Given the description of an element on the screen output the (x, y) to click on. 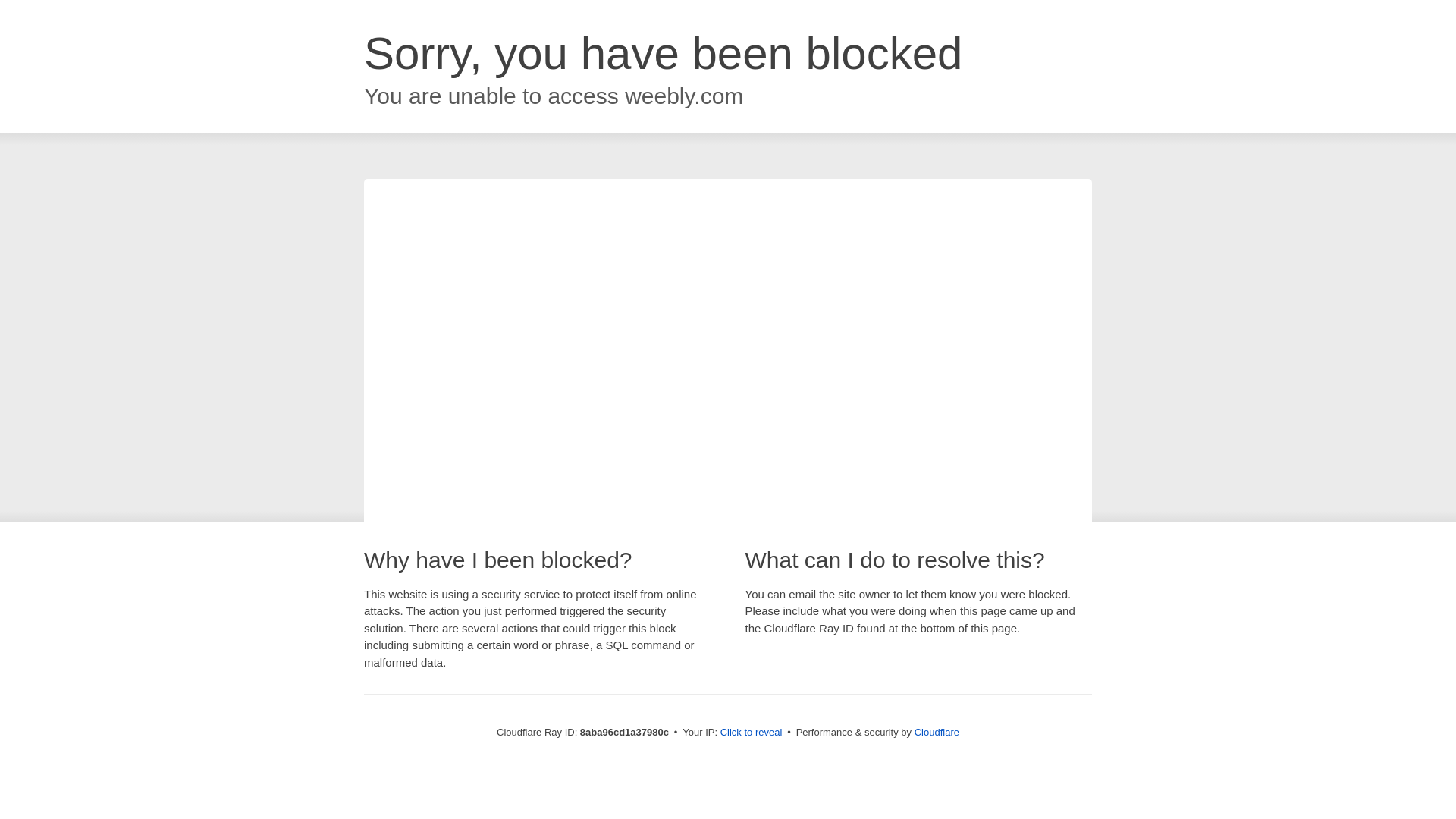
Click to reveal (751, 732)
Cloudflare (936, 731)
